Given the description of an element on the screen output the (x, y) to click on. 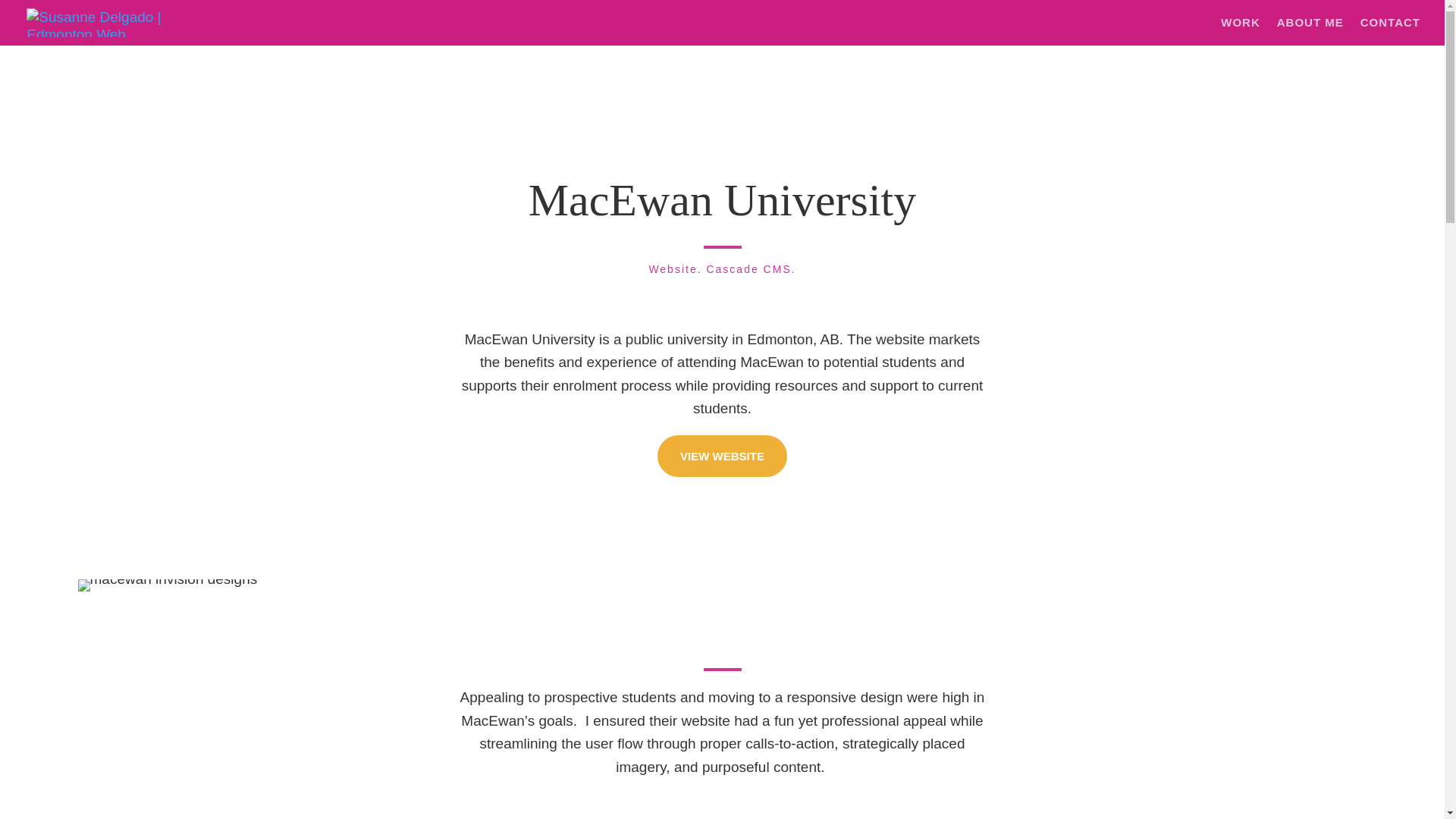
WORK (1240, 31)
CONTACT (1390, 31)
ABOUT ME (1309, 31)
macewan-full-width-banner (167, 585)
VIEW WEBSITE (722, 455)
